Given the description of an element on the screen output the (x, y) to click on. 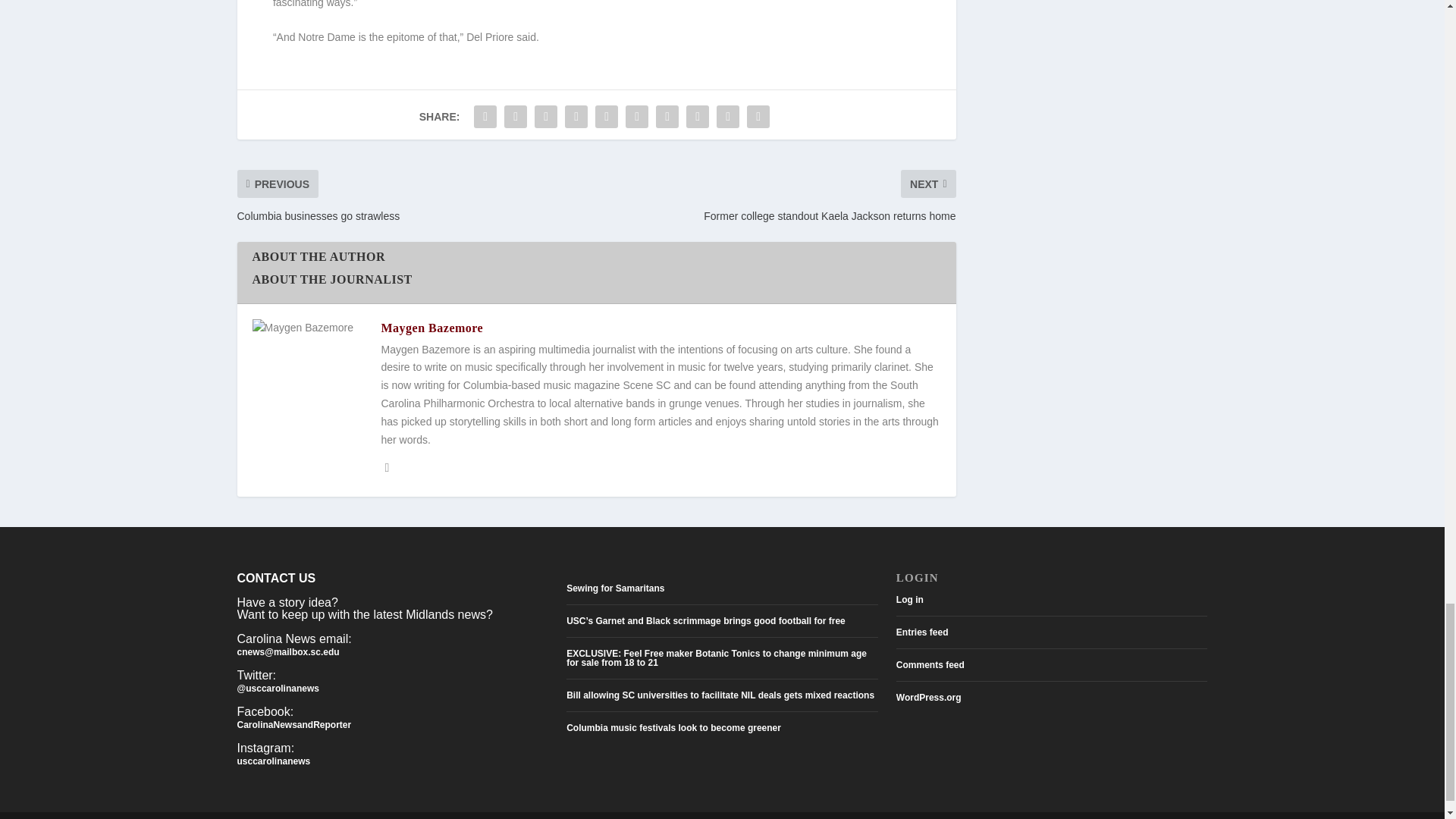
Maygen Bazemore (431, 327)
